Given the description of an element on the screen output the (x, y) to click on. 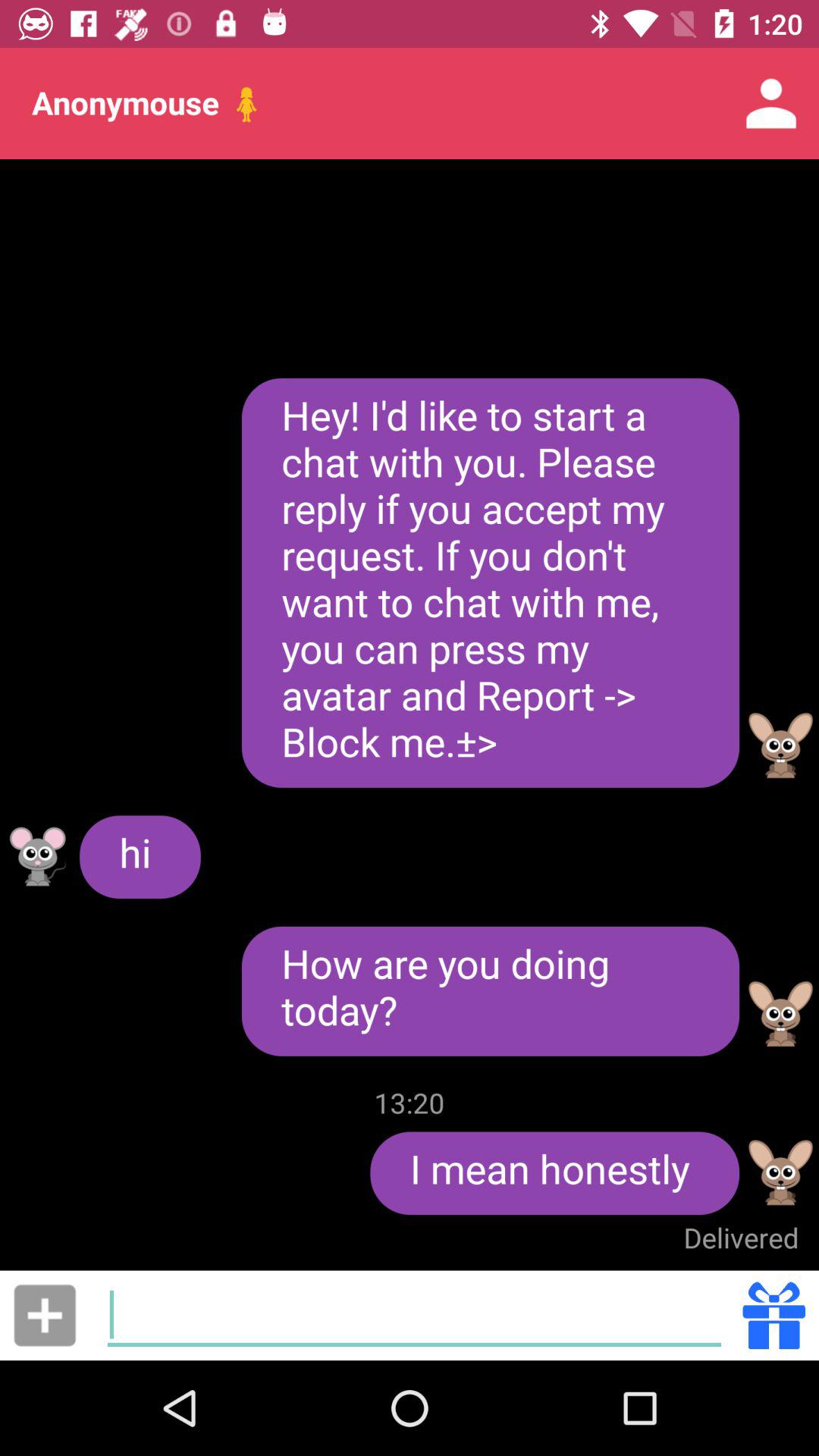
click on the gift box image option down below  right of the page (774, 1315)
go to the icon below first message (780, 745)
select the picture which is immediately above delivered (780, 1172)
